Given the description of an element on the screen output the (x, y) to click on. 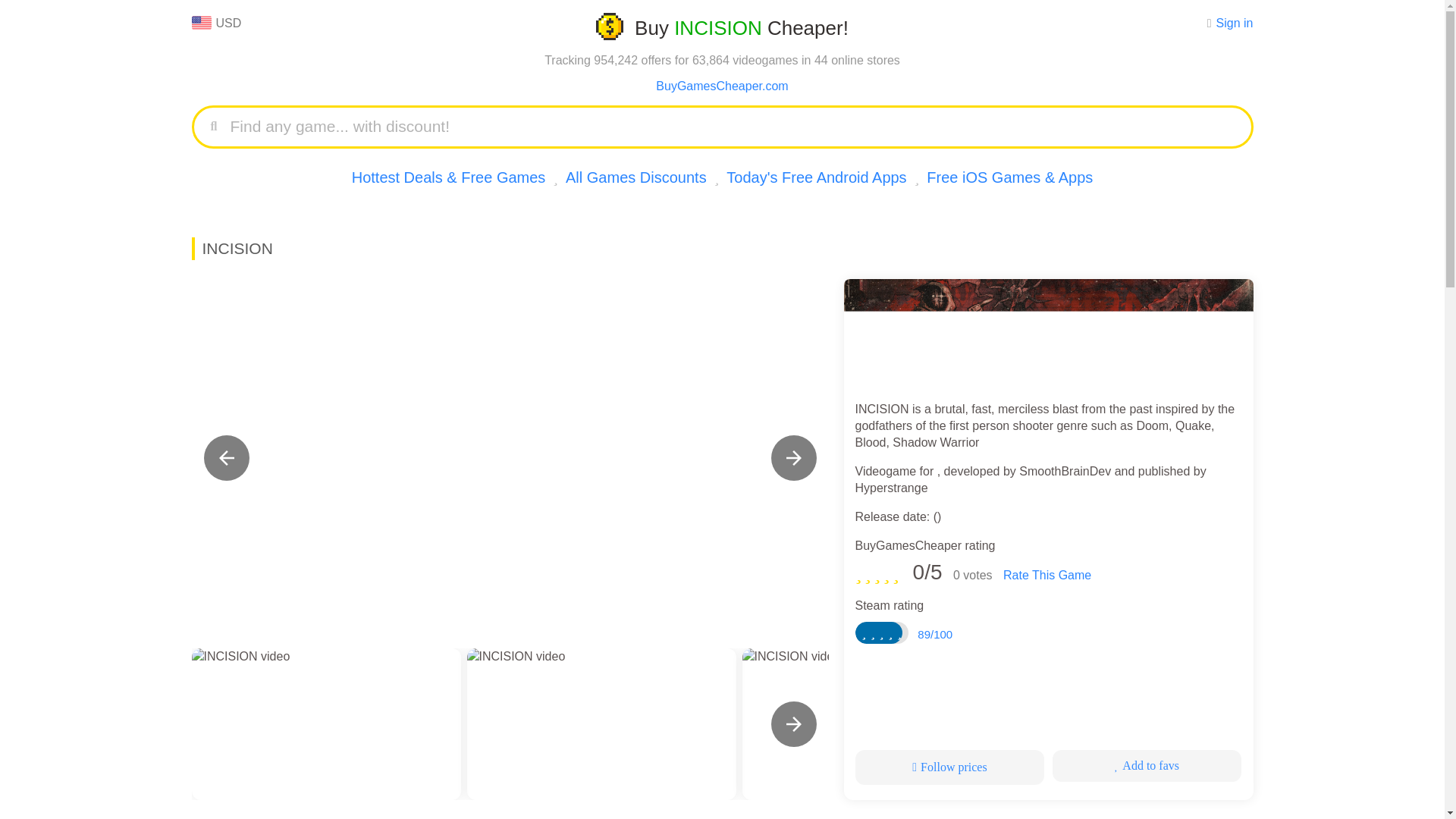
All Games Discounts (636, 176)
Rate This Game (1046, 574)
BuyGamesCheaper.com (721, 85)
Sign in (1234, 22)
Today's Free Android Apps (815, 176)
Add to favs (1146, 766)
Cheap INCISION CD keys (1047, 334)
Follow prices (950, 767)
